Given the description of an element on the screen output the (x, y) to click on. 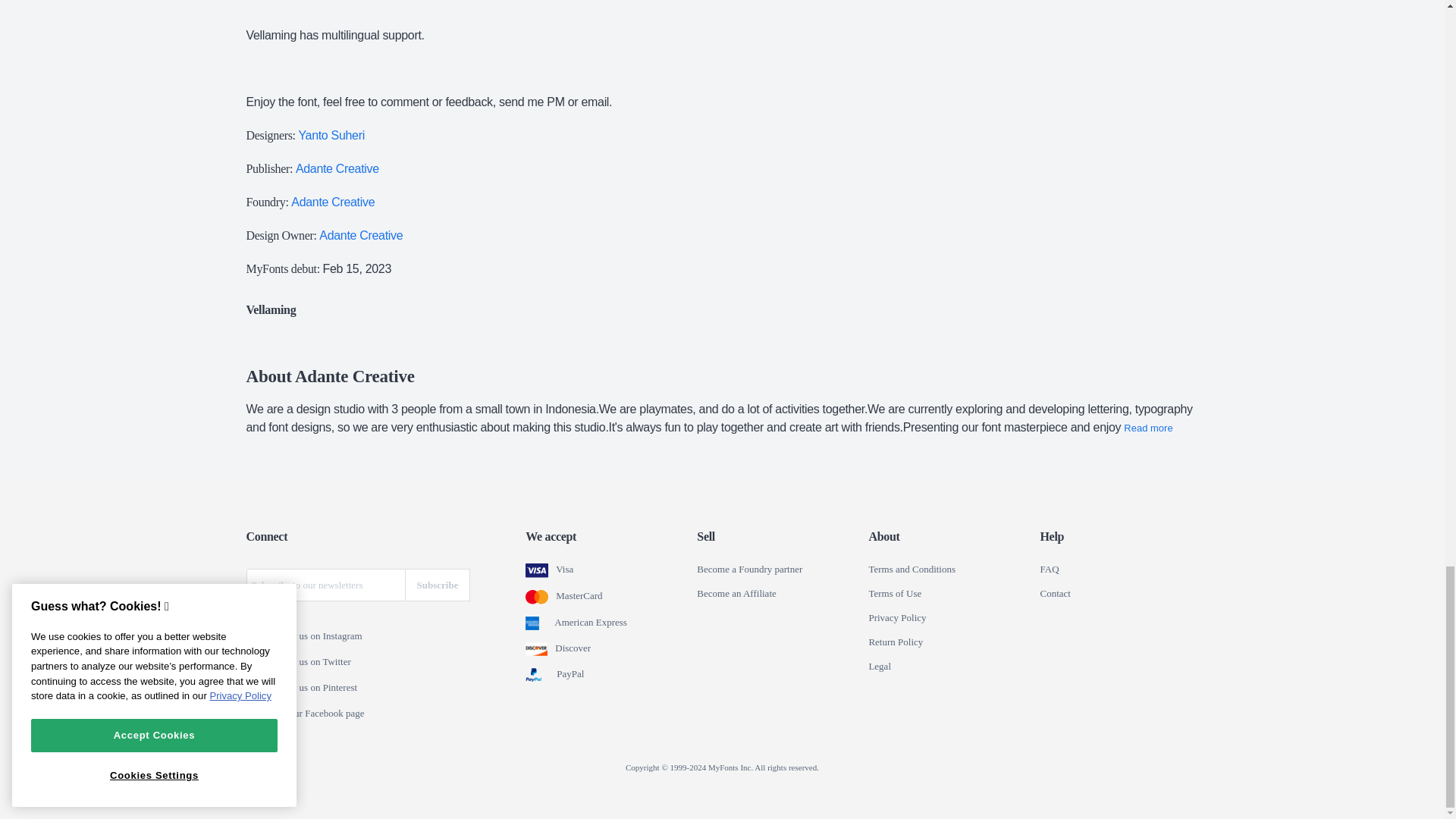
Become a Foundry partner (749, 569)
Join our affiliate program (736, 593)
Follow us on Pinterest (256, 688)
Follow us on Instagram (256, 636)
Please fill out this field (325, 584)
Follow us on Twitter (256, 662)
Like our Facebook page (256, 714)
